Given the description of an element on the screen output the (x, y) to click on. 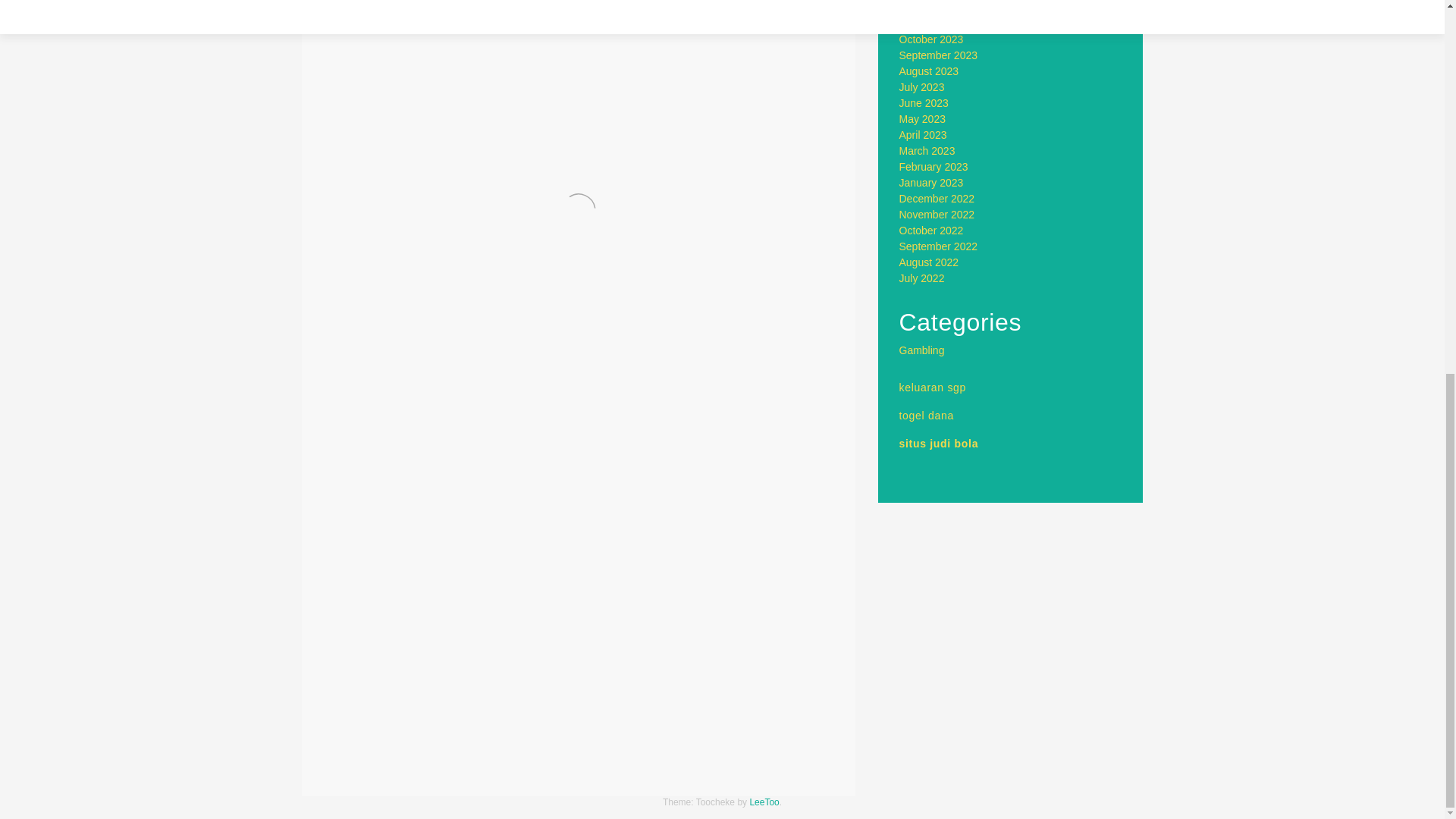
August 2022 (929, 262)
May 2023 (921, 119)
 Lottery Online (376, 762)
January 2023 (931, 182)
August 2023 (929, 70)
September 2023 (938, 55)
October 2022 (931, 230)
March 2023 (927, 150)
Gambling (921, 349)
November 2022 (937, 214)
October 2023 (931, 39)
February 2023 (933, 166)
July 2023 (921, 87)
Gambling (403, 722)
keluaran sgp (932, 387)
